Given the description of an element on the screen output the (x, y) to click on. 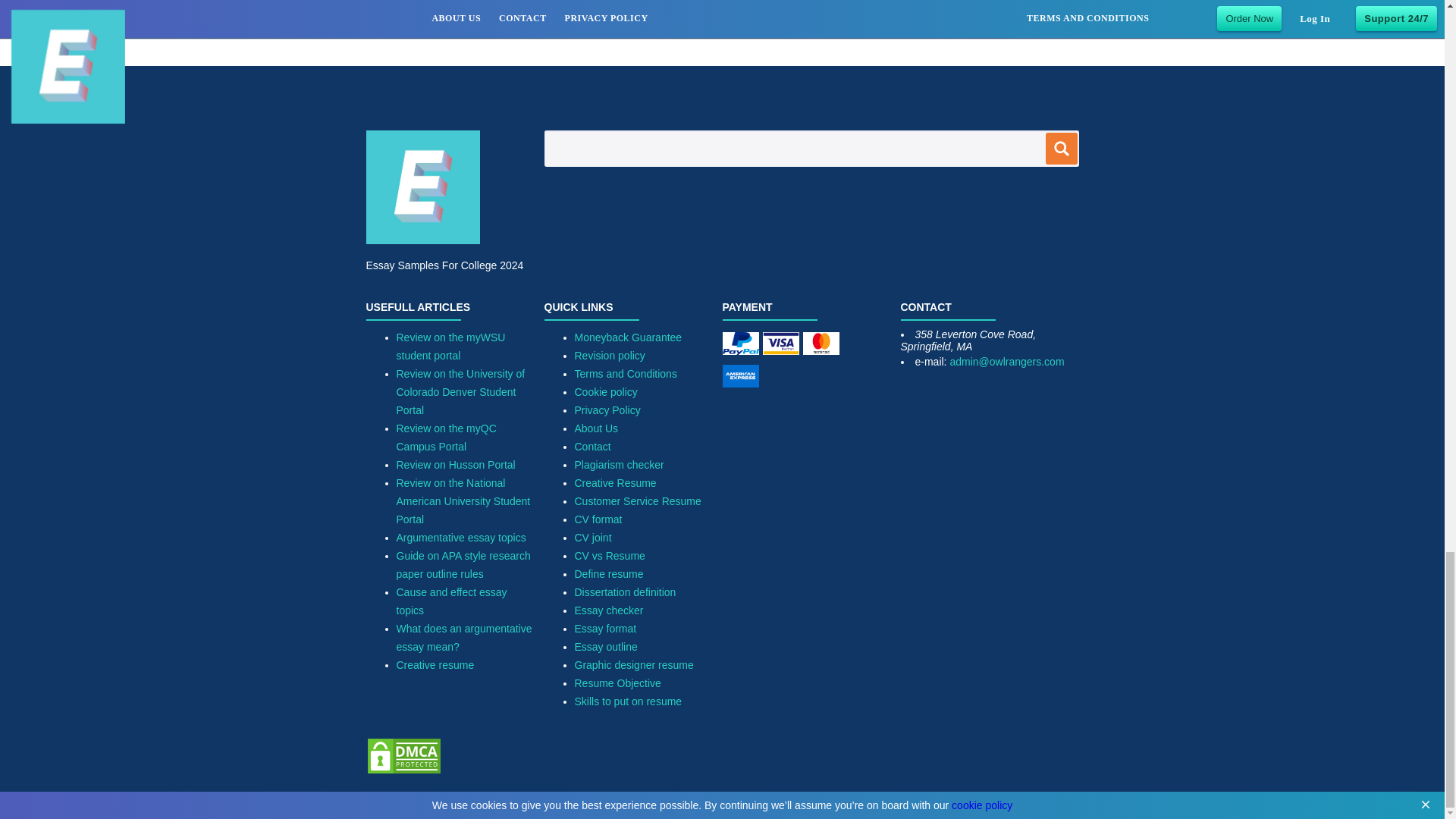
Content Protection by DMCA.com (403, 770)
